Given the description of an element on the screen output the (x, y) to click on. 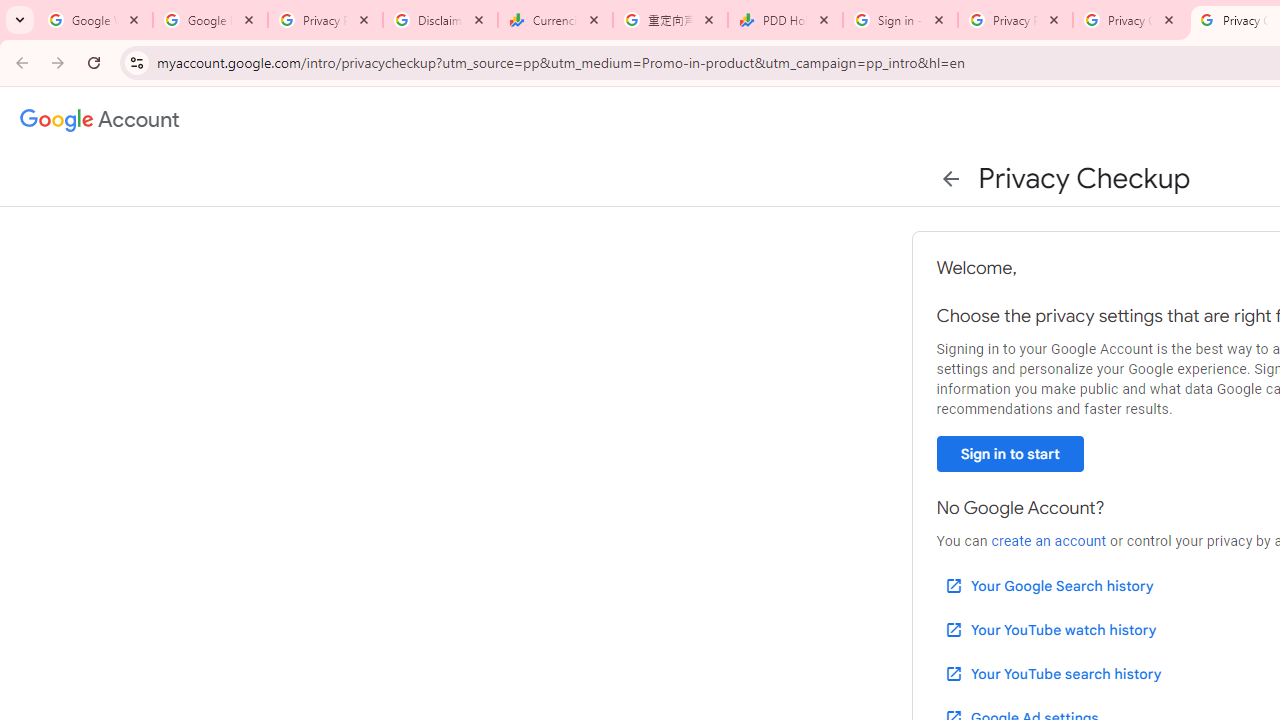
Your YouTube watch history (1049, 630)
Sign in - Google Accounts (900, 20)
Currencies - Google Finance (555, 20)
PDD Holdings Inc - ADR (PDD) Price & News - Google Finance (785, 20)
Privacy Checkup (1129, 20)
Google Account settings (100, 120)
Google Workspace Admin Community (95, 20)
